Given the description of an element on the screen output the (x, y) to click on. 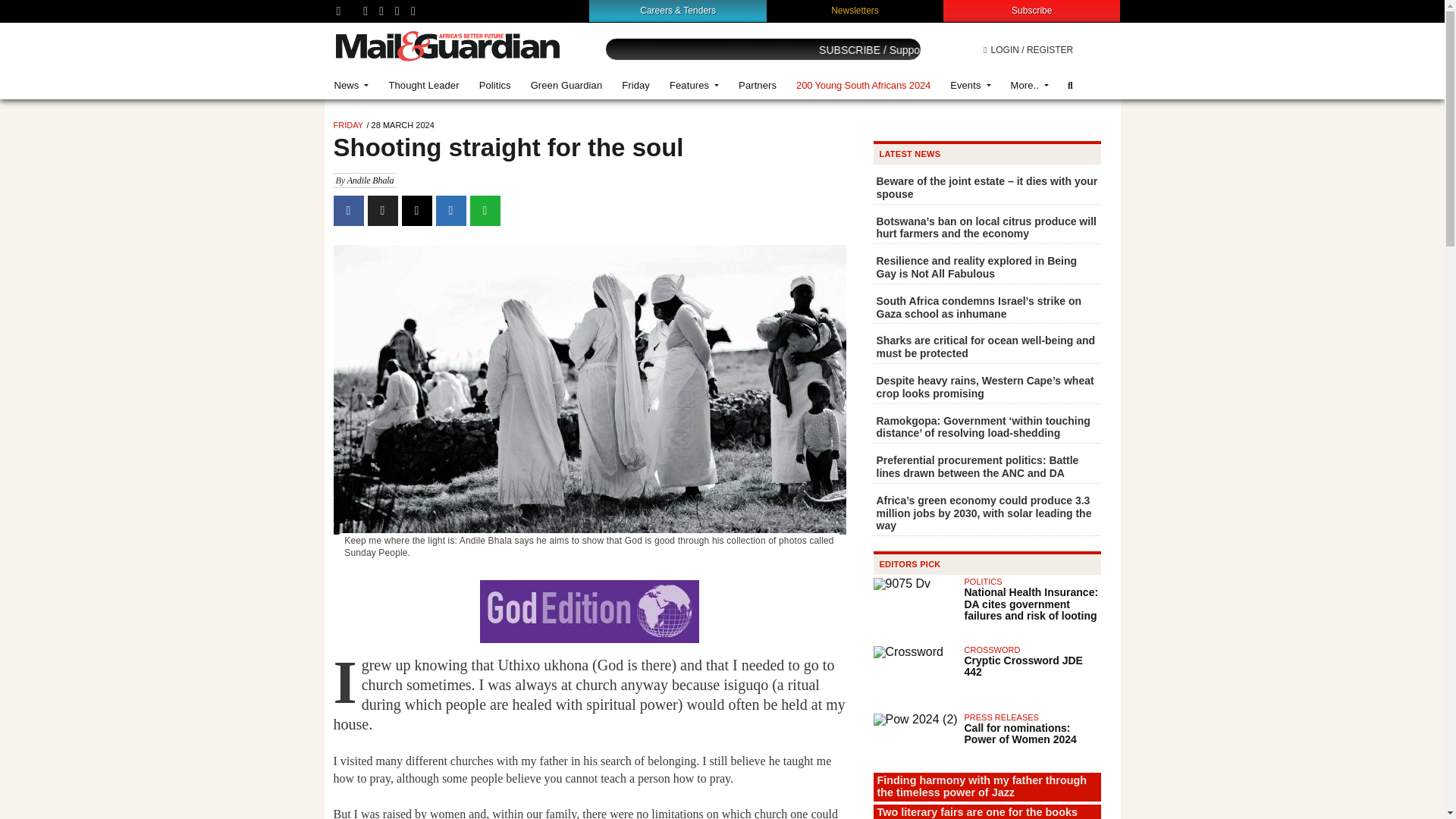
Newsletters (855, 9)
Friday (635, 85)
Subscribe (1031, 9)
Thought Leader (423, 85)
Politics (494, 85)
News (351, 85)
Green Guardian (566, 85)
Features (694, 85)
News (351, 85)
